Given the description of an element on the screen output the (x, y) to click on. 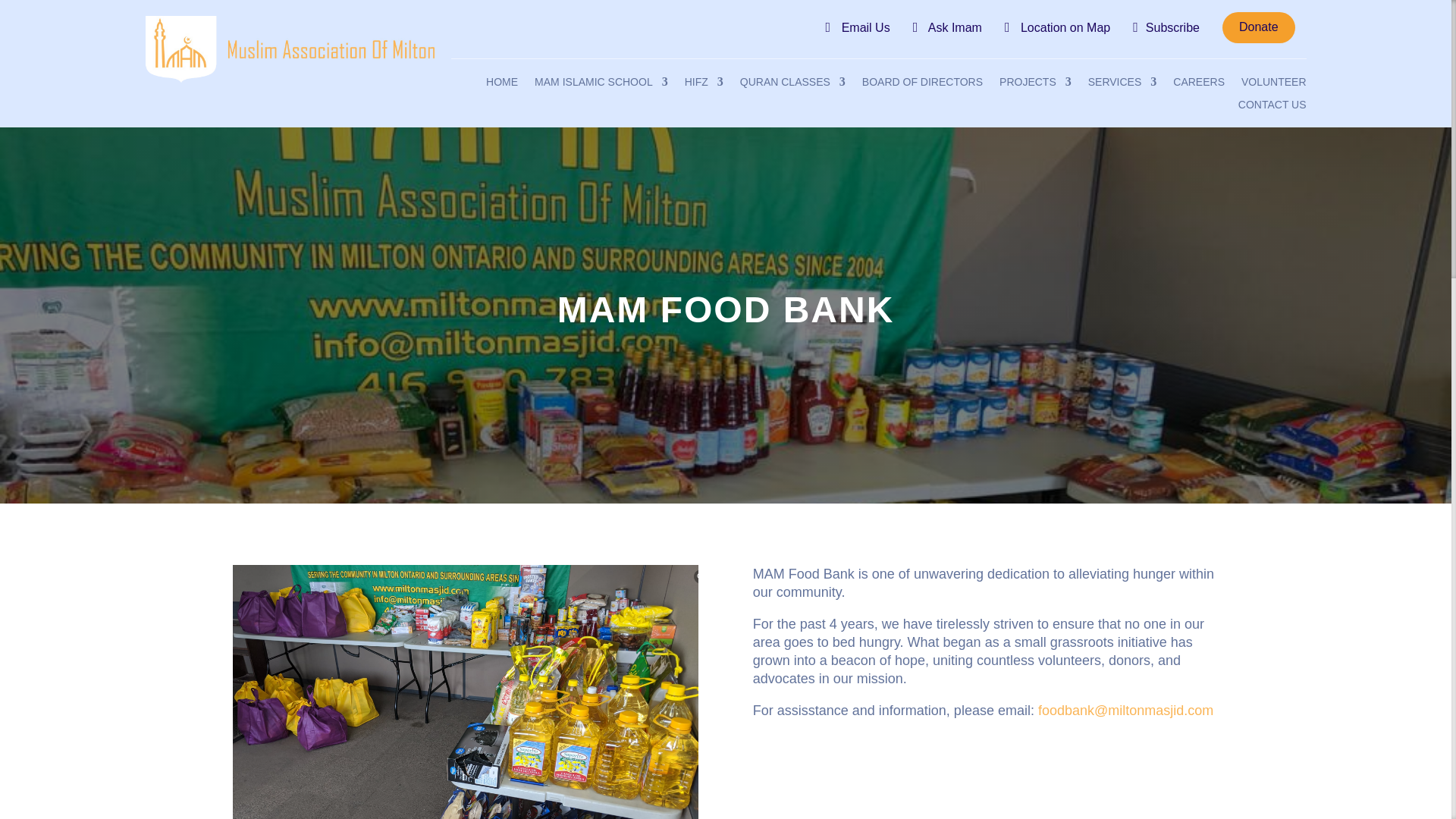
BOARD OF DIRECTORS (921, 84)
MAM ISLAMIC SCHOOL (601, 84)
Email Us (857, 27)
CONTACT US (1272, 107)
HIFZ (703, 84)
HOME (502, 84)
sss (289, 48)
Ask Imam (946, 27)
Location on Map (1056, 27)
Milton Food Bank (465, 692)
Donate (1259, 27)
VOLUNTEER (1273, 84)
SERVICES (1122, 84)
Subscribe (1165, 27)
CAREERS (1198, 84)
